Given the description of an element on the screen output the (x, y) to click on. 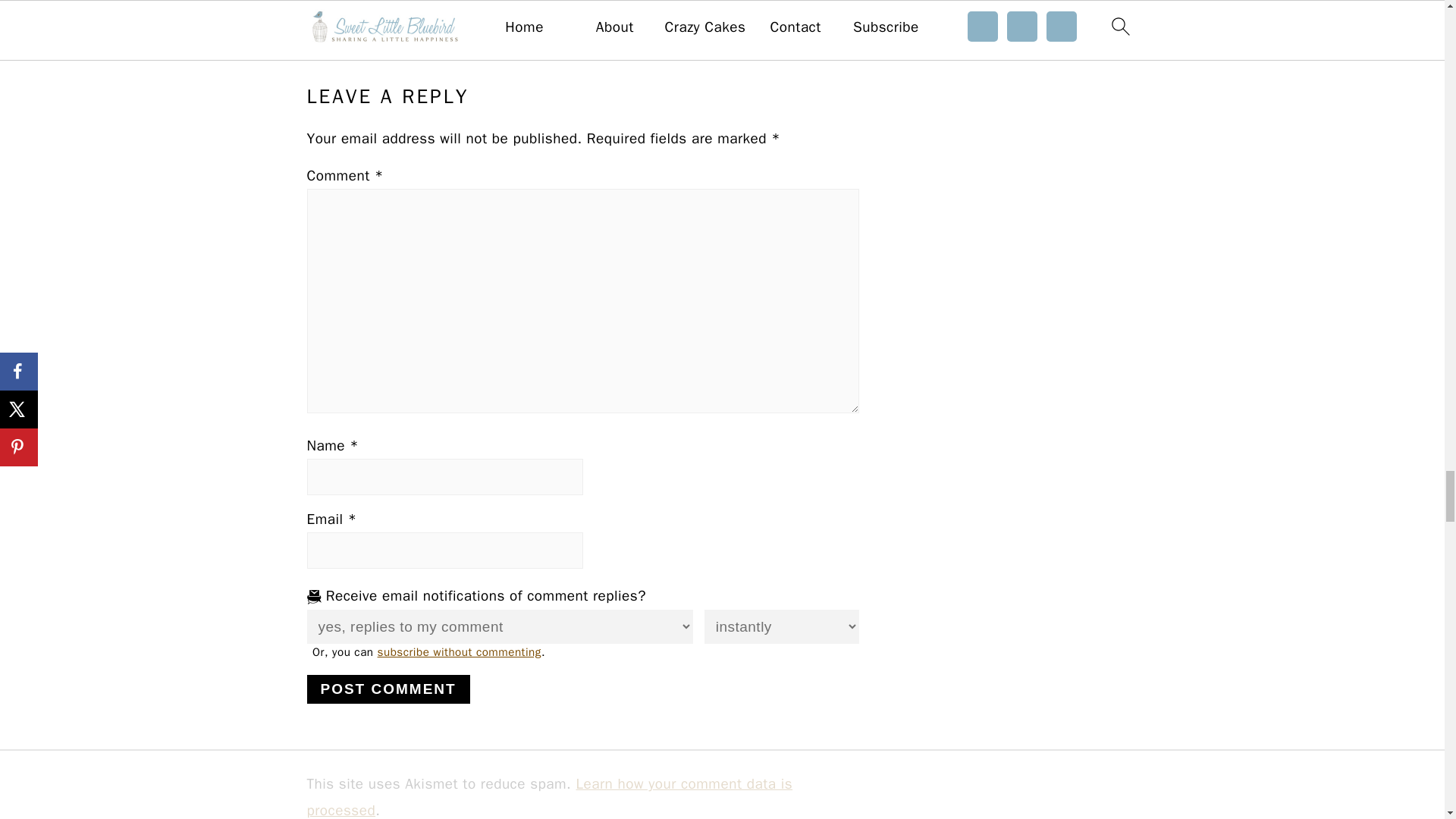
Post Comment (386, 688)
